Given the description of an element on the screen output the (x, y) to click on. 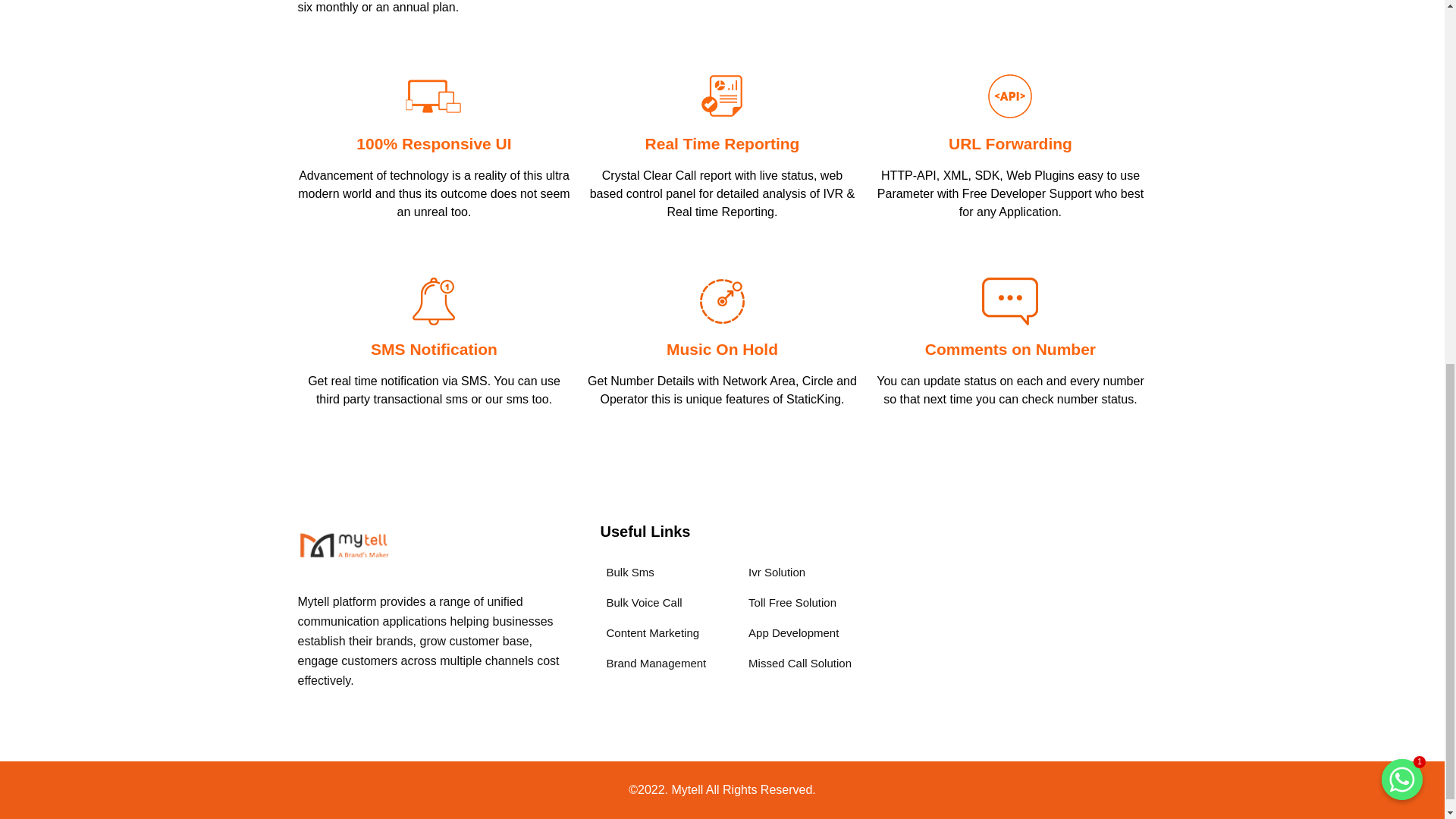
Bulk Voice Call (640, 603)
App Development (790, 633)
Missed Call Solution (796, 663)
Toll Free Solution (788, 603)
sec 63 Noida Utter Pardesh (1021, 630)
Content Marketing (649, 633)
Brand Management (652, 663)
Ivr Solution (773, 572)
Bulk Sms (626, 572)
1 (1401, 115)
